Given the description of an element on the screen output the (x, y) to click on. 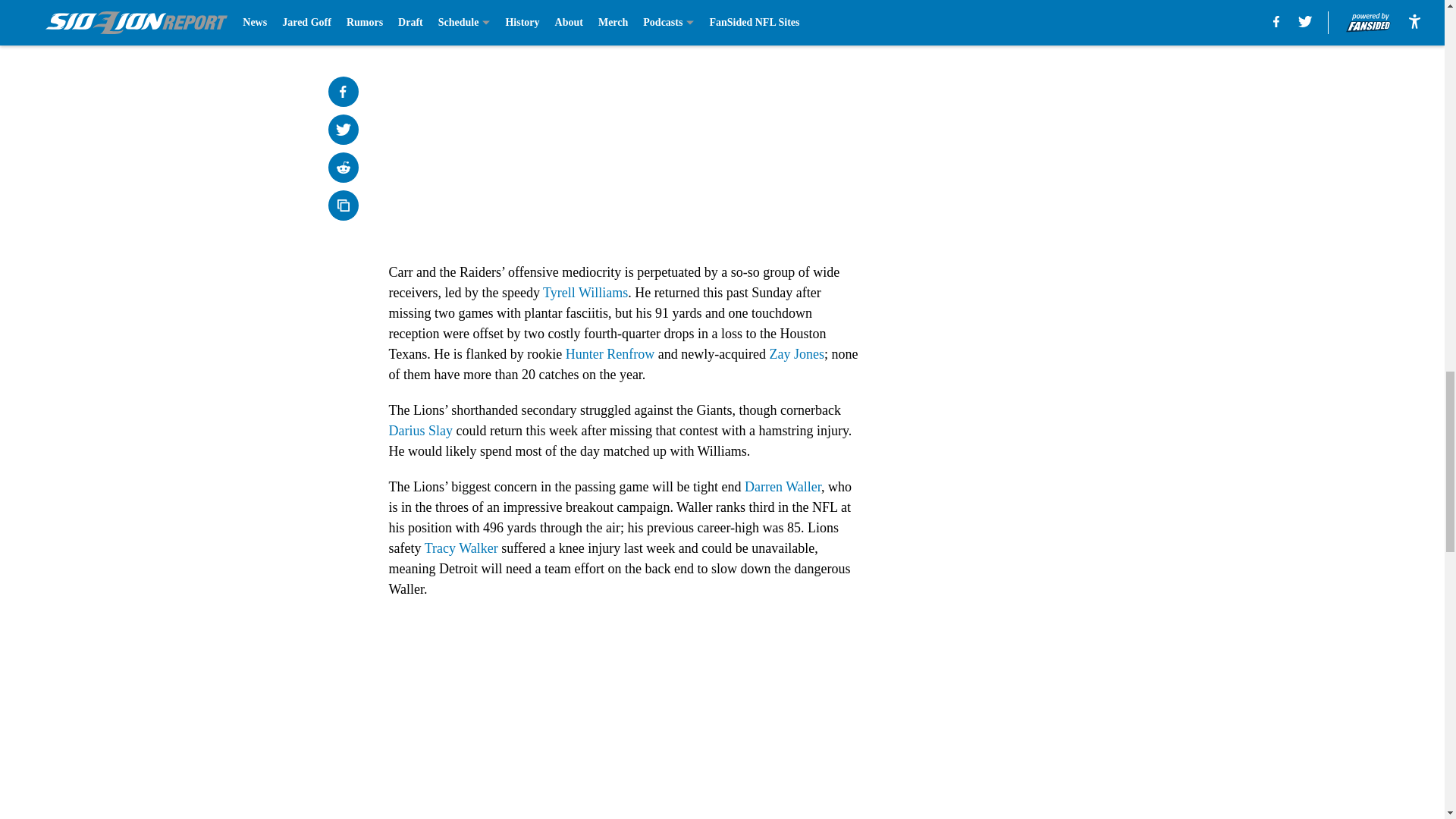
Hunter Renfrow (609, 353)
Tracy Walker (461, 548)
Darren Waller (782, 486)
Zay Jones (797, 353)
Tyrell Williams (585, 292)
Darius Slay (420, 430)
